Given the description of an element on the screen output the (x, y) to click on. 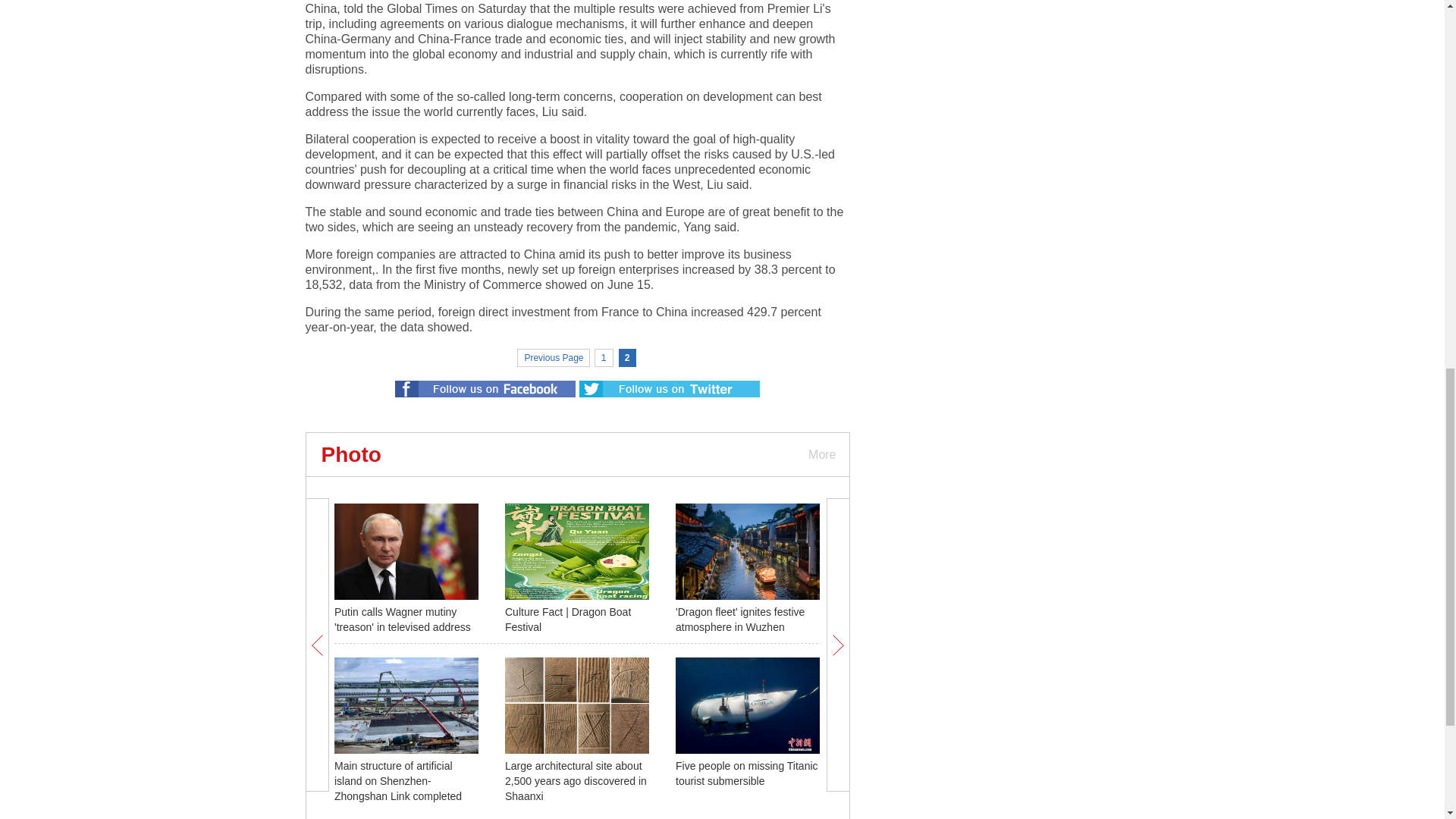
More (820, 454)
Putin calls Wagner mutiny 'treason' in televised address (402, 619)
Previous Page (552, 357)
Five people on missing Titanic tourist submersible (746, 773)
'Dragon fleet' ignites festive atmosphere in Wuzhen (740, 619)
1 (603, 357)
